Given the description of an element on the screen output the (x, y) to click on. 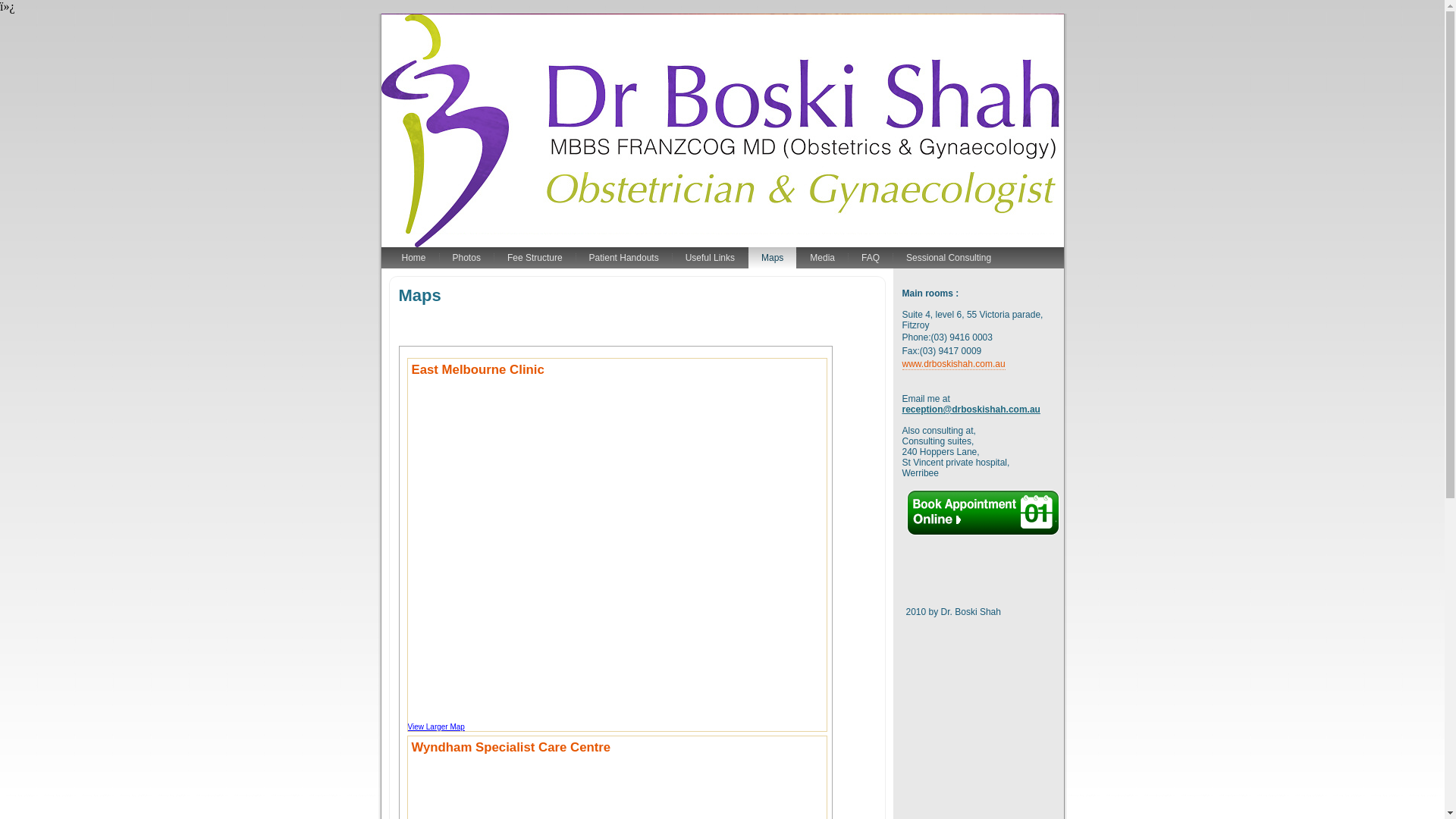
reception@drboskishah.com.au Element type: text (971, 409)
Useful Links Element type: text (709, 257)
Photos Element type: text (466, 257)
Media Element type: text (822, 257)
Home Element type: text (413, 257)
Sessional Consulting Element type: text (948, 257)
Maps Element type: text (772, 257)
www.drboskishah.com.au Element type: text (953, 364)
View Larger Map Element type: text (435, 726)
FAQ Element type: text (870, 257)
Book an appointment online Element type: hover (982, 532)
Fee Structure Element type: text (534, 257)
Patient Handouts Element type: text (623, 257)
